Given the description of an element on the screen output the (x, y) to click on. 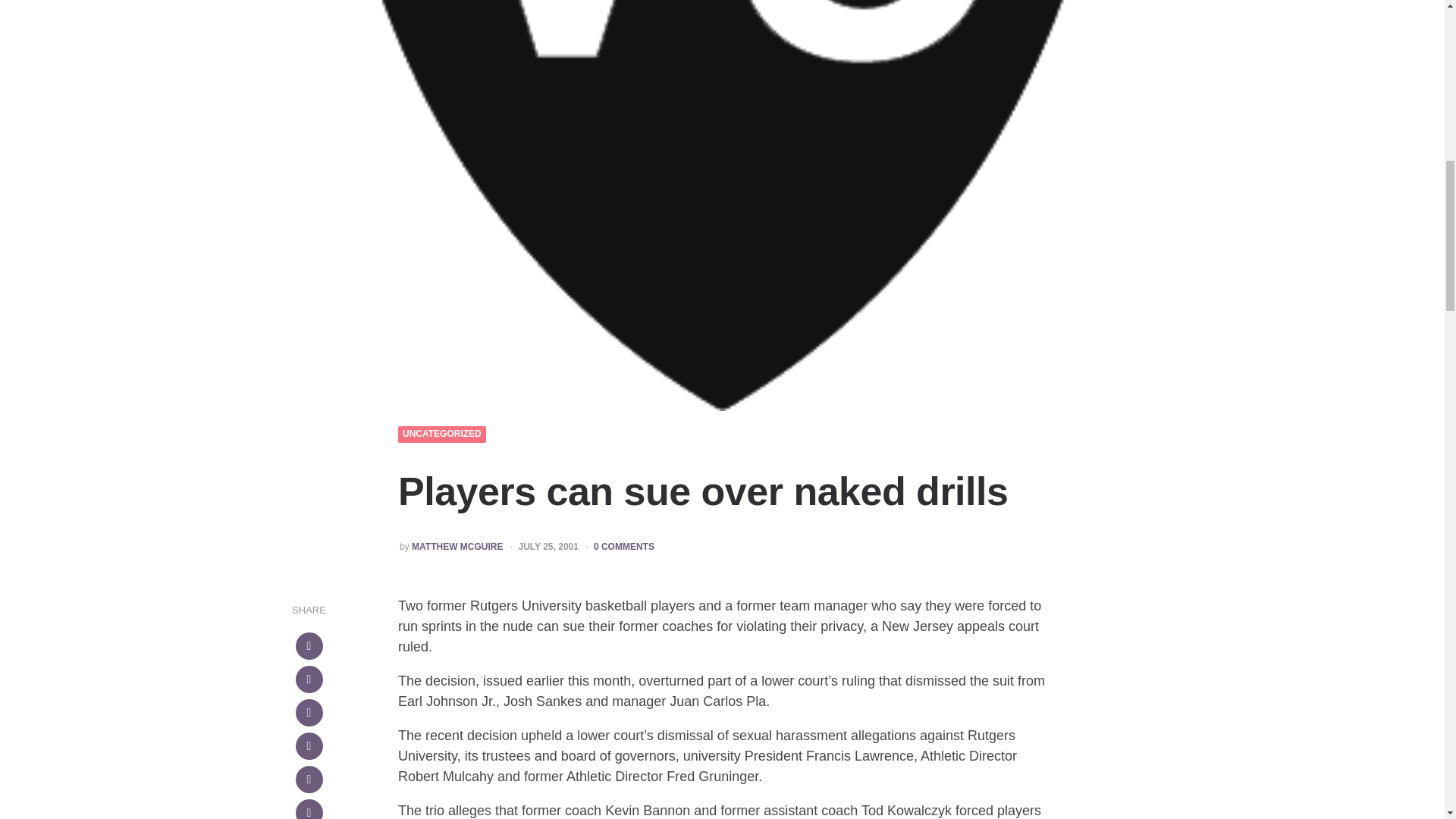
UNCATEGORIZED (442, 434)
0 COMMENTS (623, 547)
MATTHEW MCGUIRE (457, 547)
